Given the description of an element on the screen output the (x, y) to click on. 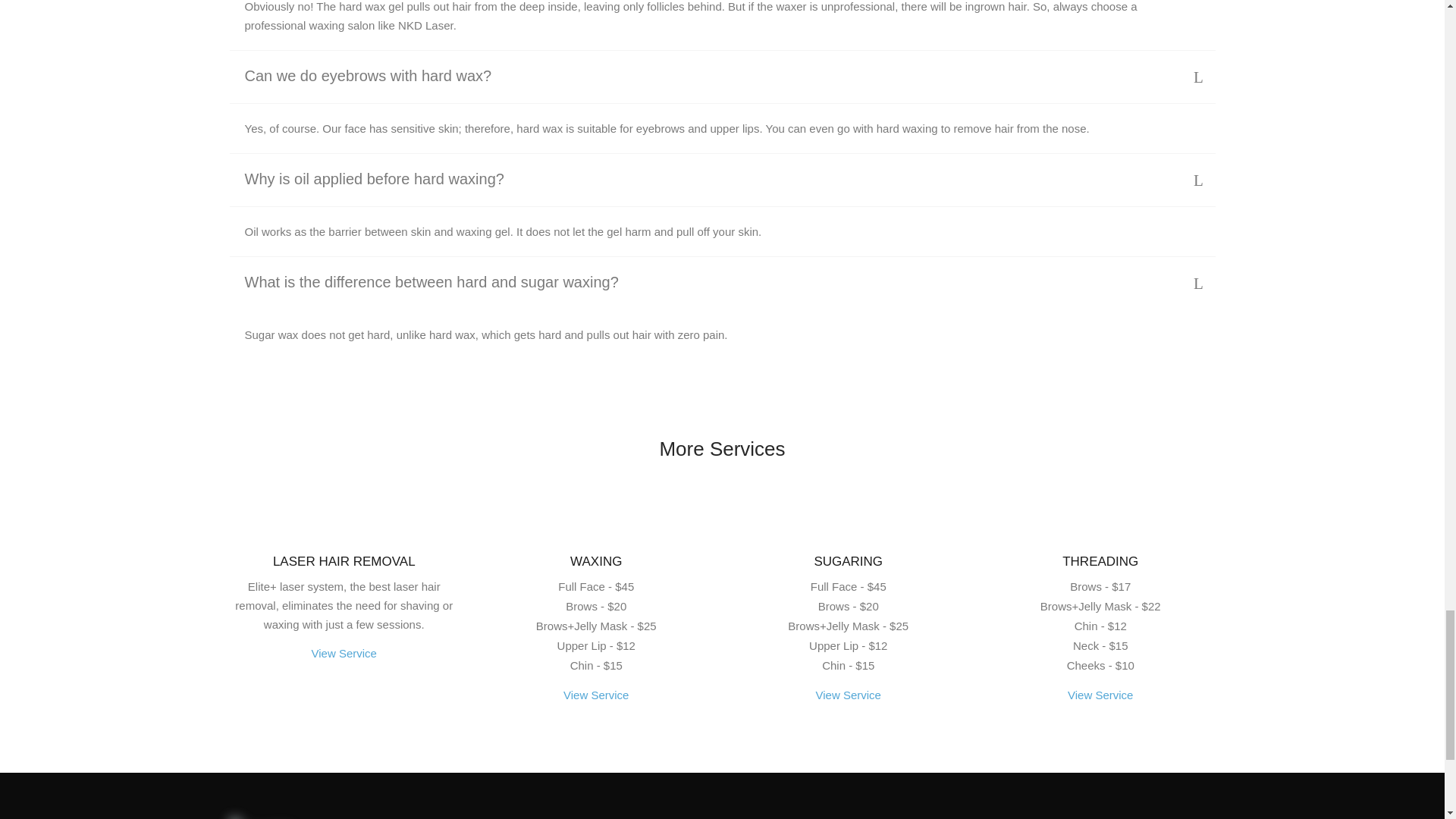
View Service (344, 653)
View Service (595, 695)
View Service (847, 695)
View Service (1099, 695)
